Given the description of an element on the screen output the (x, y) to click on. 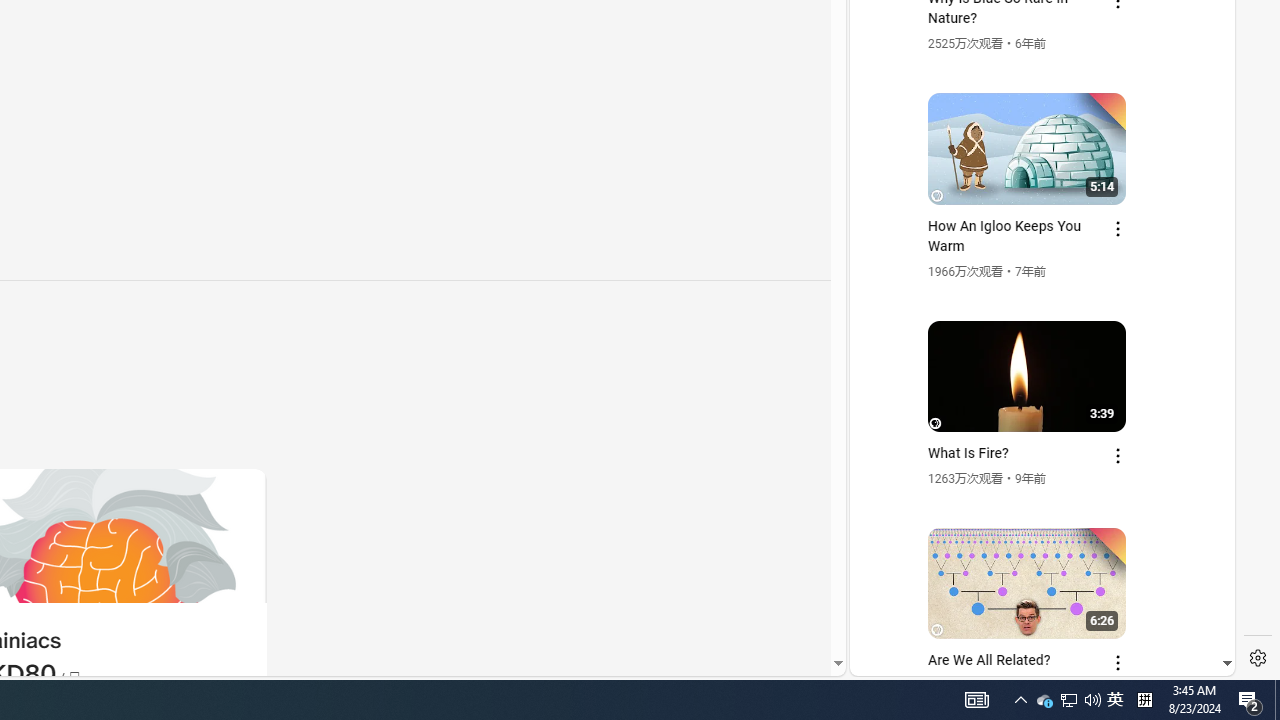
#you (1034, 439)
Global web icon (888, 432)
US[ju] (917, 660)
YouTube - YouTube (1034, 266)
you (1034, 609)
YouTube (1034, 432)
Actions for this site (1131, 443)
Class: dict_pnIcon rms_img (1028, 660)
